Given the description of an element on the screen output the (x, y) to click on. 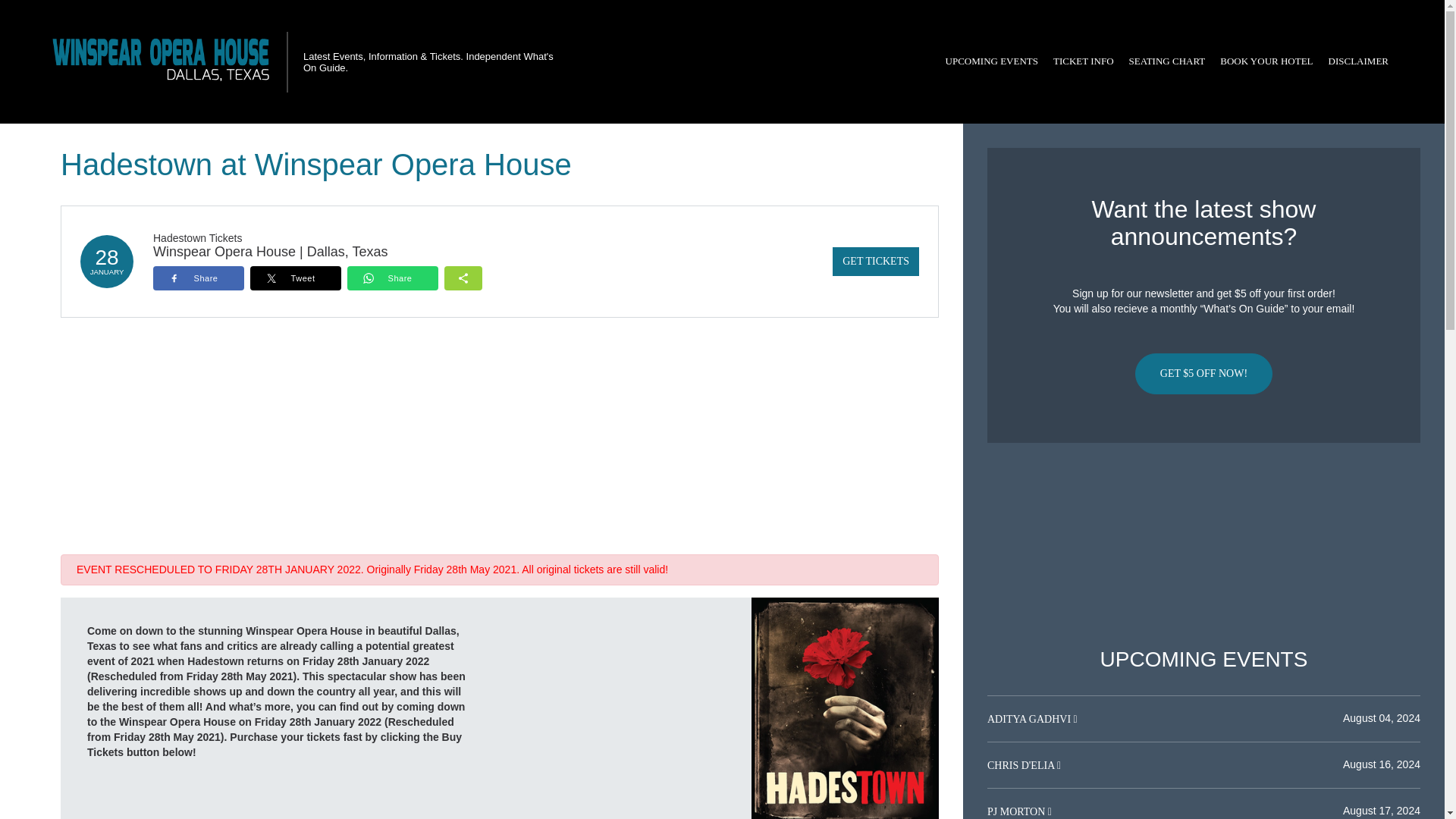
PJ MORTON (1017, 811)
DISCLAIMER (1358, 61)
Advertisement (1204, 545)
GET TICKETS (875, 261)
Hadestown Tickets (197, 237)
TICKET INFO (1083, 61)
SEATING CHART (1166, 61)
Hadestown at Winspear Opera House (845, 708)
BOOK YOUR HOTEL (1266, 61)
UPCOMING EVENTS (991, 61)
